Given the description of an element on the screen output the (x, y) to click on. 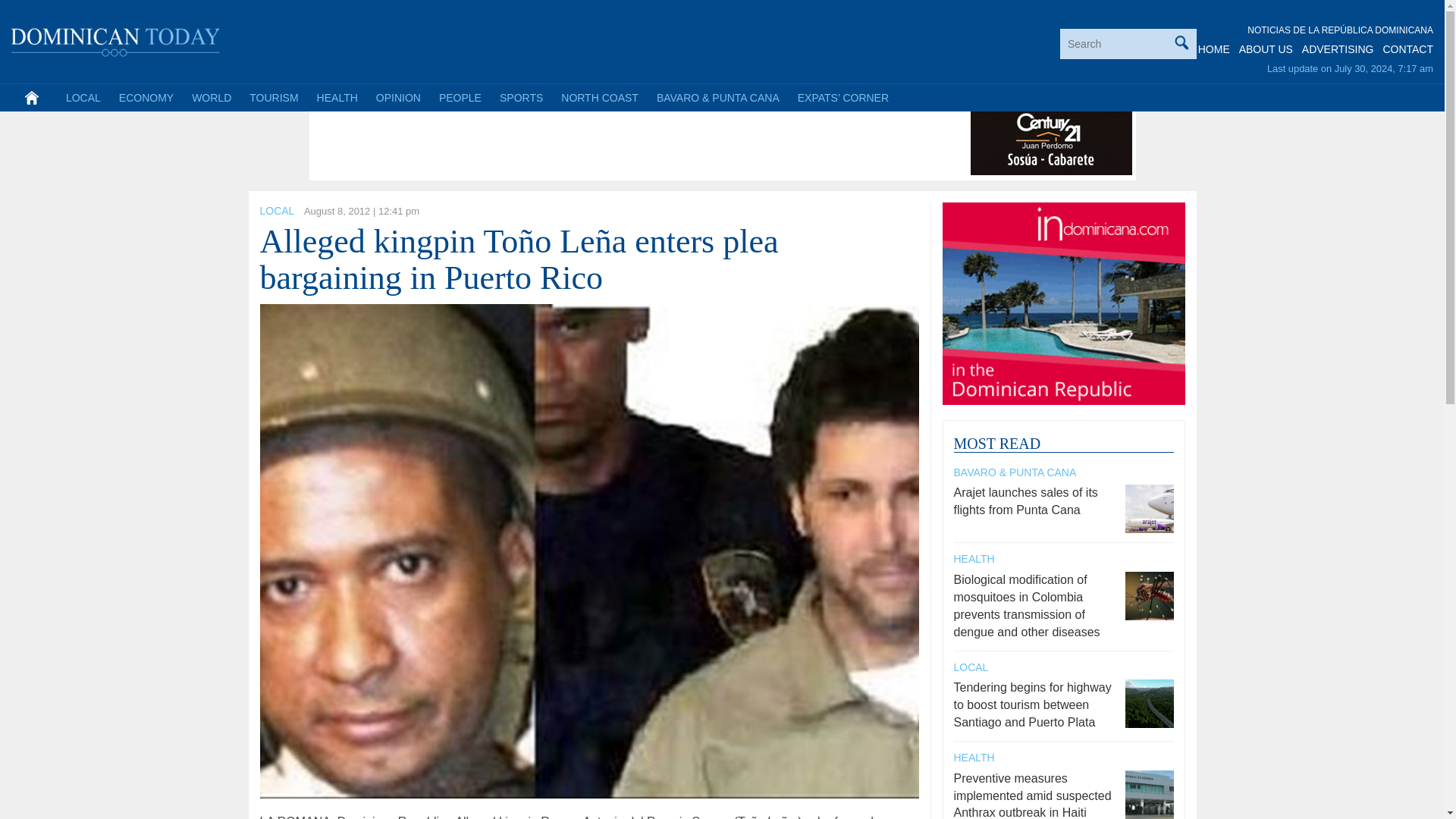
NORTH COAST (599, 97)
PEOPLE (459, 97)
ECONOMY (146, 97)
LOCAL (83, 97)
CONTACT (1406, 49)
Dominican Today News - Santo Domingo and Dominican Republic (116, 38)
ADVERTISING (1337, 49)
TOURISM (273, 97)
HEALTH (336, 97)
LOCAL (276, 210)
ABOUT US (1265, 49)
WORLD (211, 97)
HOME (1214, 49)
OPINION (397, 97)
